Given the description of an element on the screen output the (x, y) to click on. 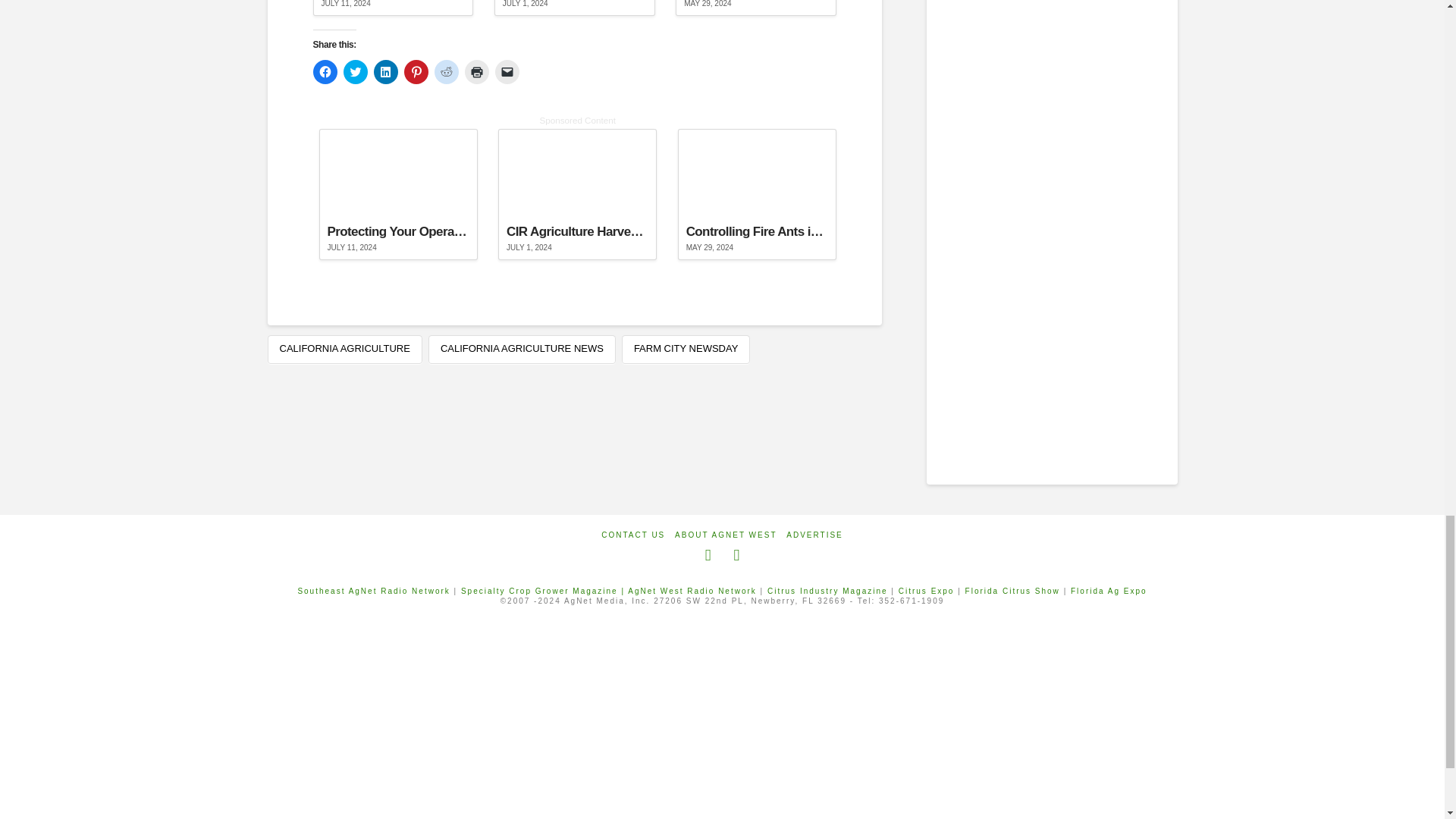
Click to print (475, 71)
Permalink to: "CIR Agriculture Harvester Products" (575, 7)
Click to share on Twitter (354, 71)
Click to share on Reddit (445, 71)
Click to share on Facebook (324, 71)
Click to share on LinkedIn (384, 71)
Click to share on Pinterest (415, 71)
Permalink to: "Controlling Fire Ants in Almond Orchards" (755, 7)
